Given the description of an element on the screen output the (x, y) to click on. 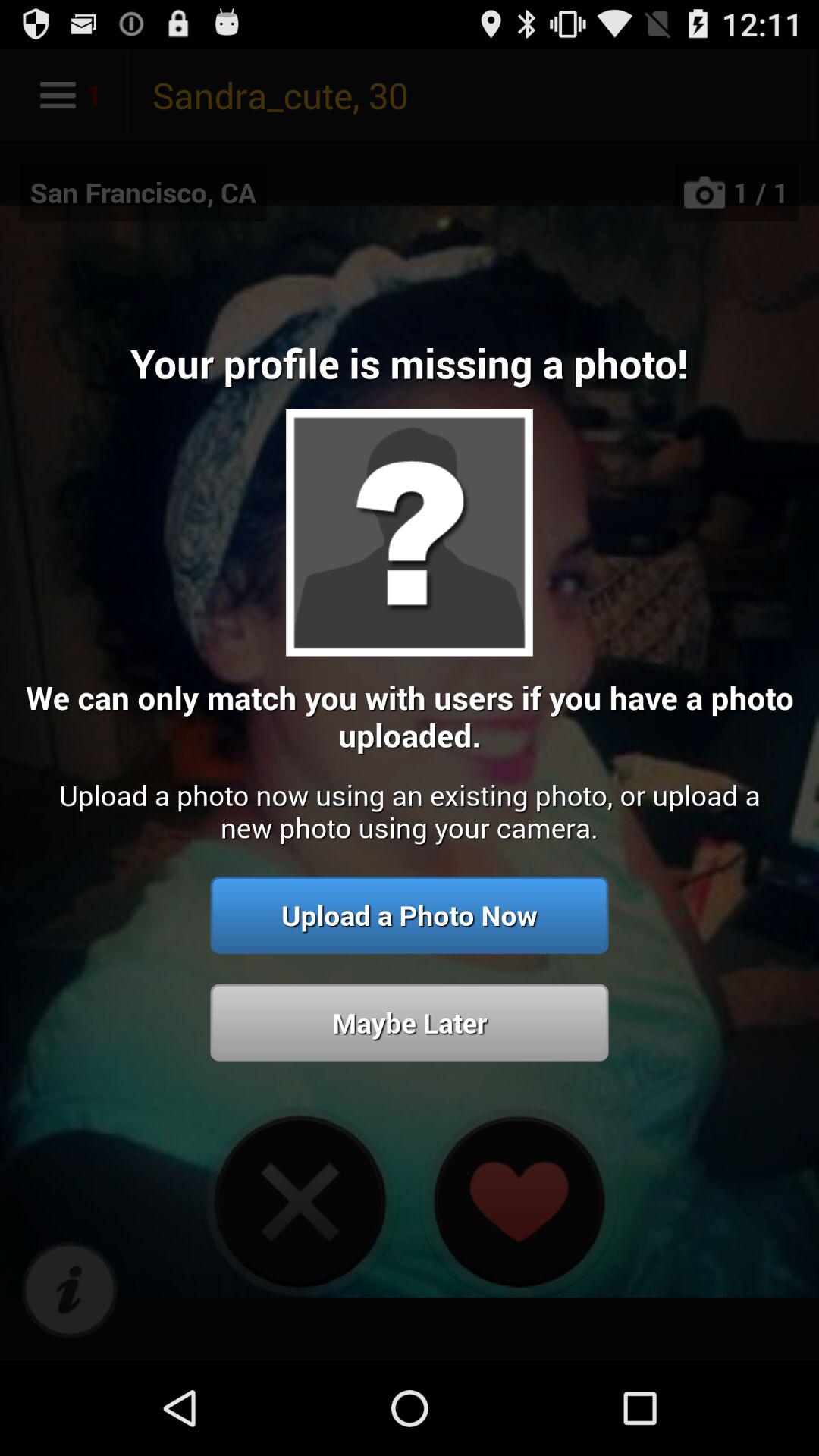
exit (299, 1200)
